Given the description of an element on the screen output the (x, y) to click on. 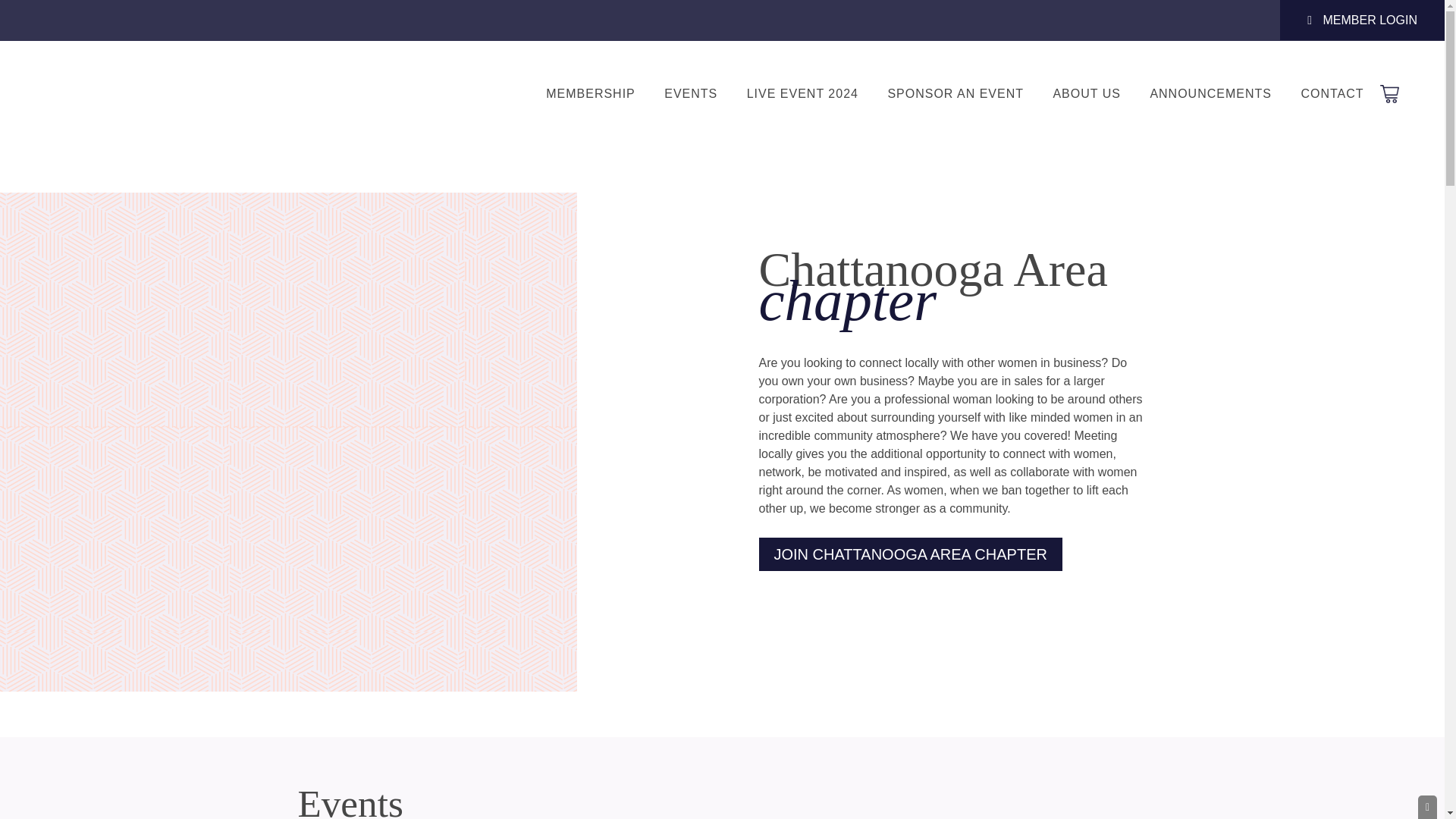
MEMBERSHIP (589, 94)
LIVE EVENT 2024 (801, 94)
JOIN CHATTANOOGA AREA CHAPTER (909, 553)
CONTACT (1331, 94)
SPONSOR AN EVENT (955, 94)
ANNOUNCEMENTS (1210, 94)
ABOUT US (1086, 94)
EVENTS (690, 94)
